Given the description of an element on the screen output the (x, y) to click on. 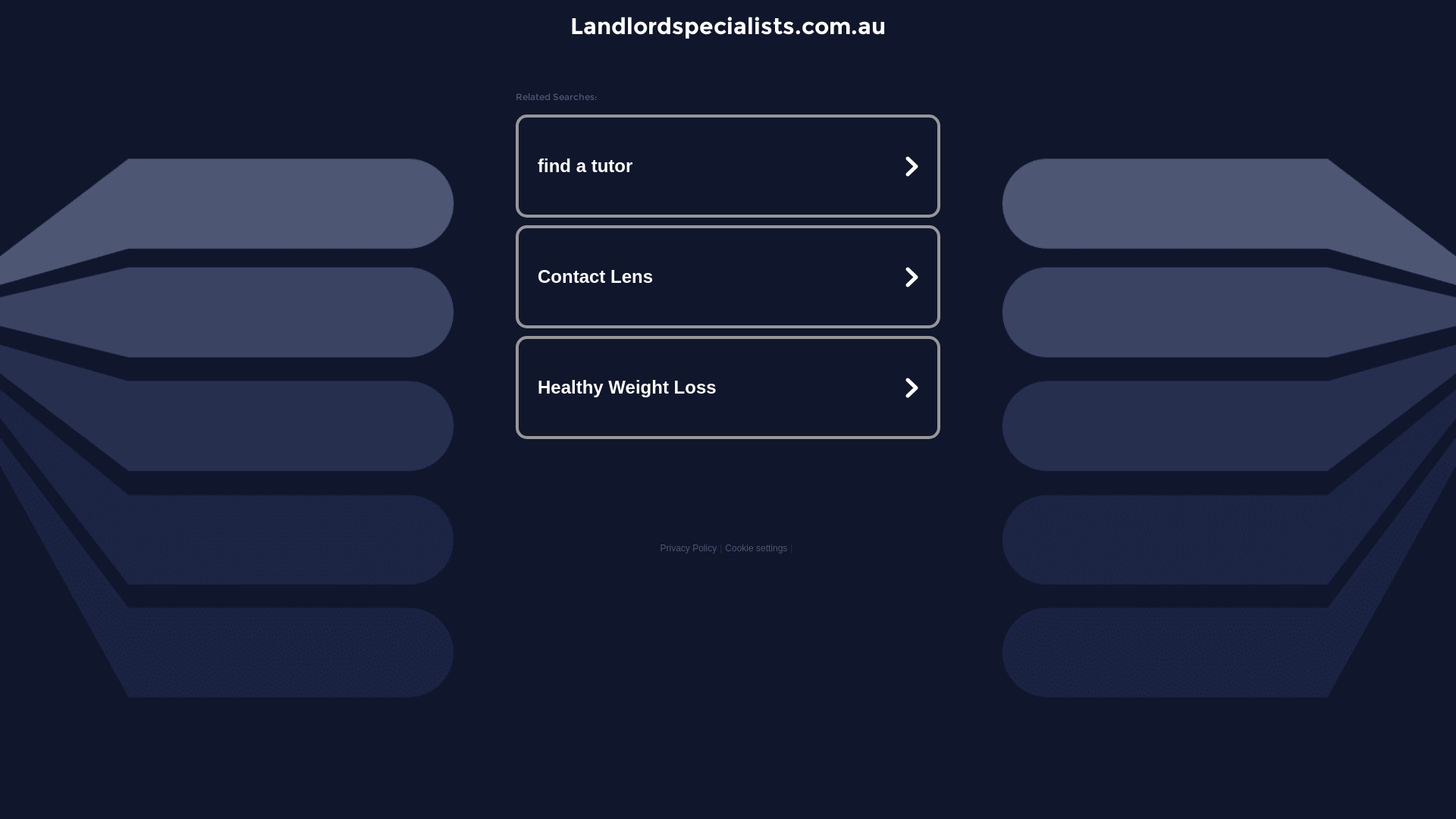
Healthy Weight Loss Element type: text (727, 387)
Privacy Policy Element type: text (687, 547)
Landlordspecialists.com.au Element type: text (727, 26)
Cookie settings Element type: text (755, 547)
find a tutor Element type: text (727, 165)
Contact Lens Element type: text (727, 276)
